Given the description of an element on the screen output the (x, y) to click on. 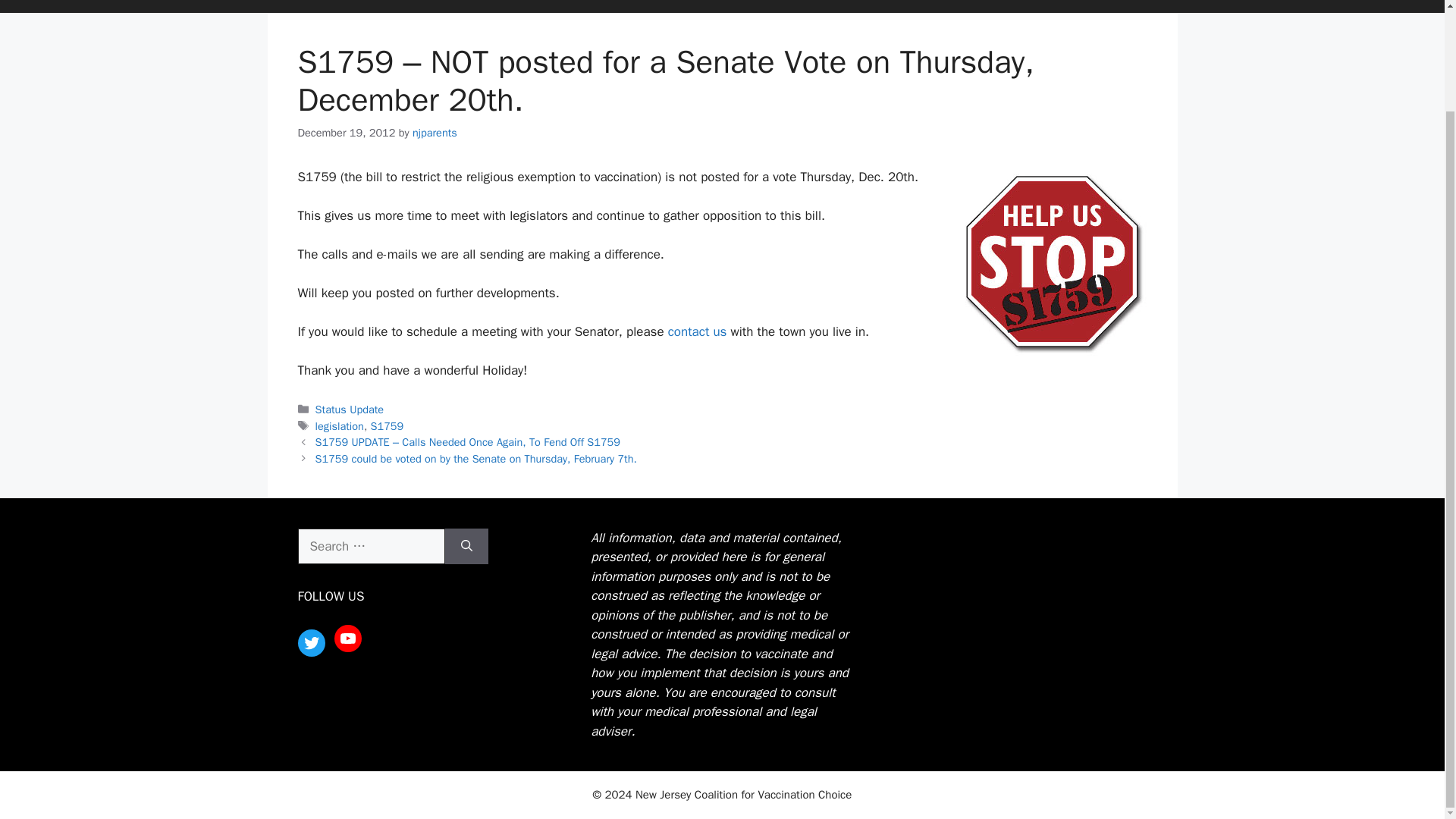
Legislation (675, 6)
Blog (844, 6)
NJ Vaccine FAQ (579, 6)
S1759 (387, 426)
njparents (434, 132)
Twitter (310, 642)
contact us (697, 331)
Home (437, 6)
COVID-19 (919, 6)
YouTube (347, 637)
